Given the description of an element on the screen output the (x, y) to click on. 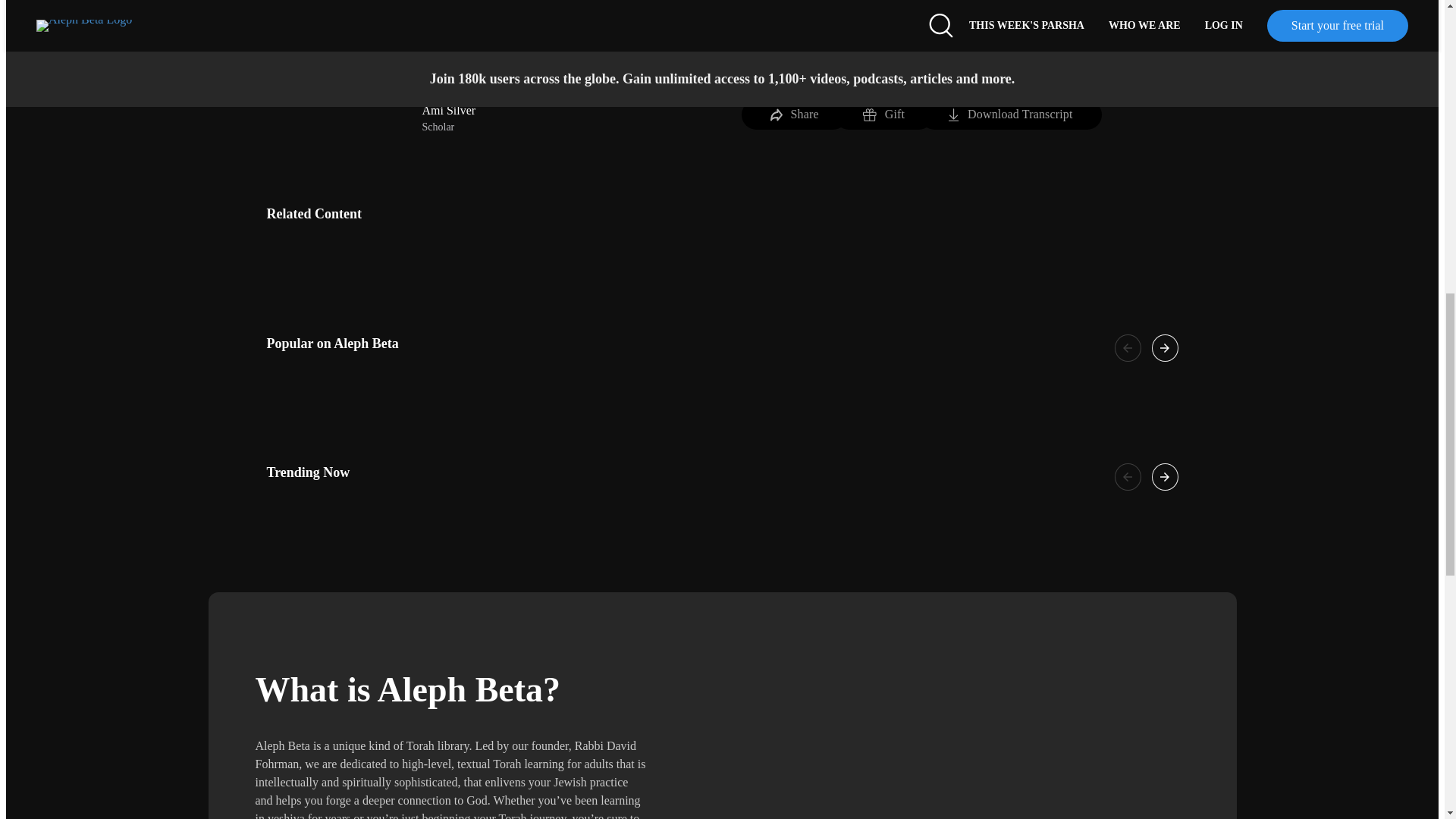
Toldot (725, 34)
Vayeitzei (770, 34)
Jacob: Man of Truth (552, 16)
Vayishlach (845, 34)
